Given the description of an element on the screen output the (x, y) to click on. 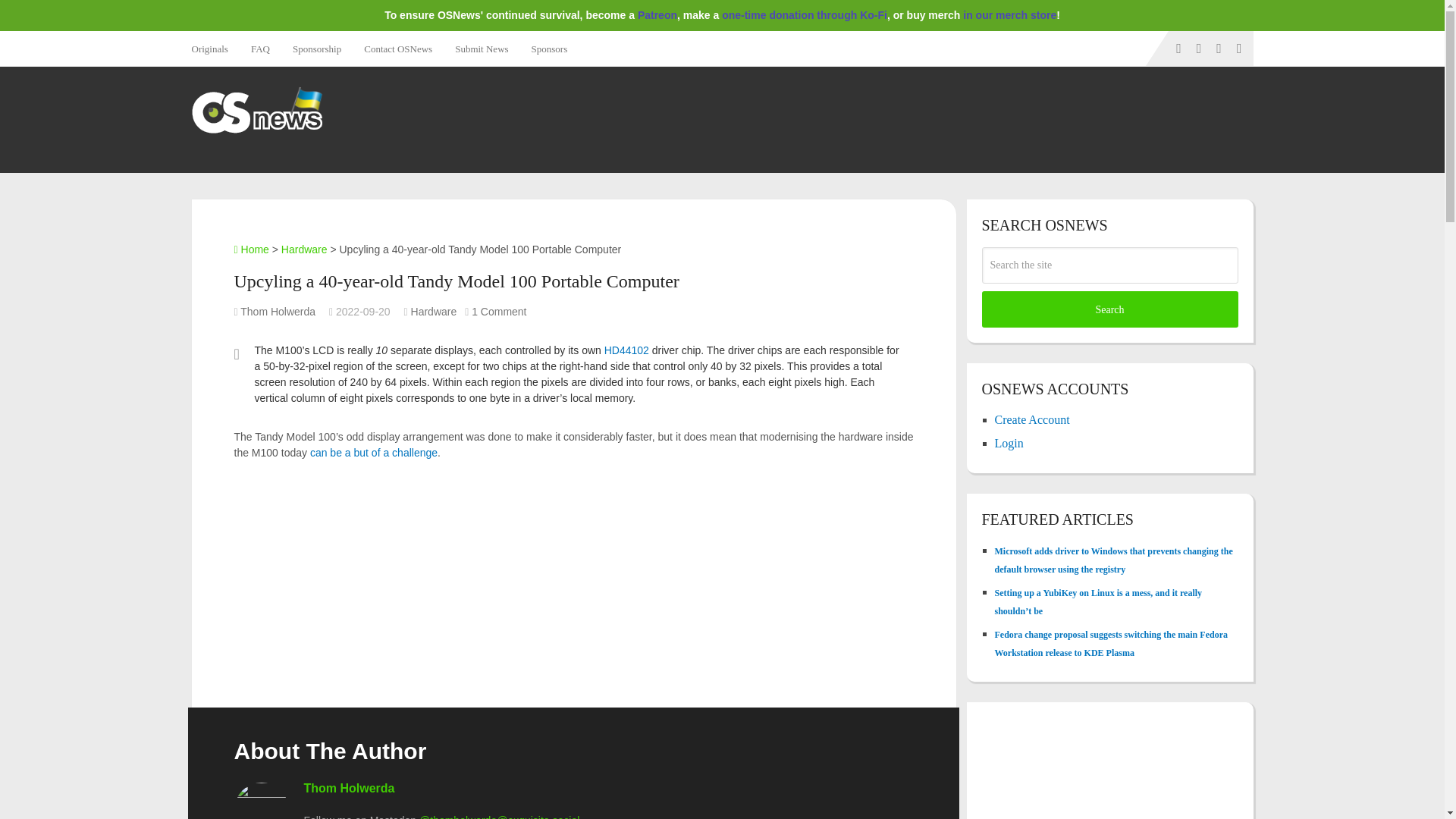
Sponsors (549, 48)
Originals (214, 48)
Create Account (1032, 419)
one-time donation through Ko-Fi (804, 15)
Contact OSNews (398, 48)
in our merch store (1009, 15)
Posts by Thom Holwerda (277, 311)
Thom Holwerda (348, 788)
View all posts in Hardware (433, 311)
Hardware (433, 311)
